Given the description of an element on the screen output the (x, y) to click on. 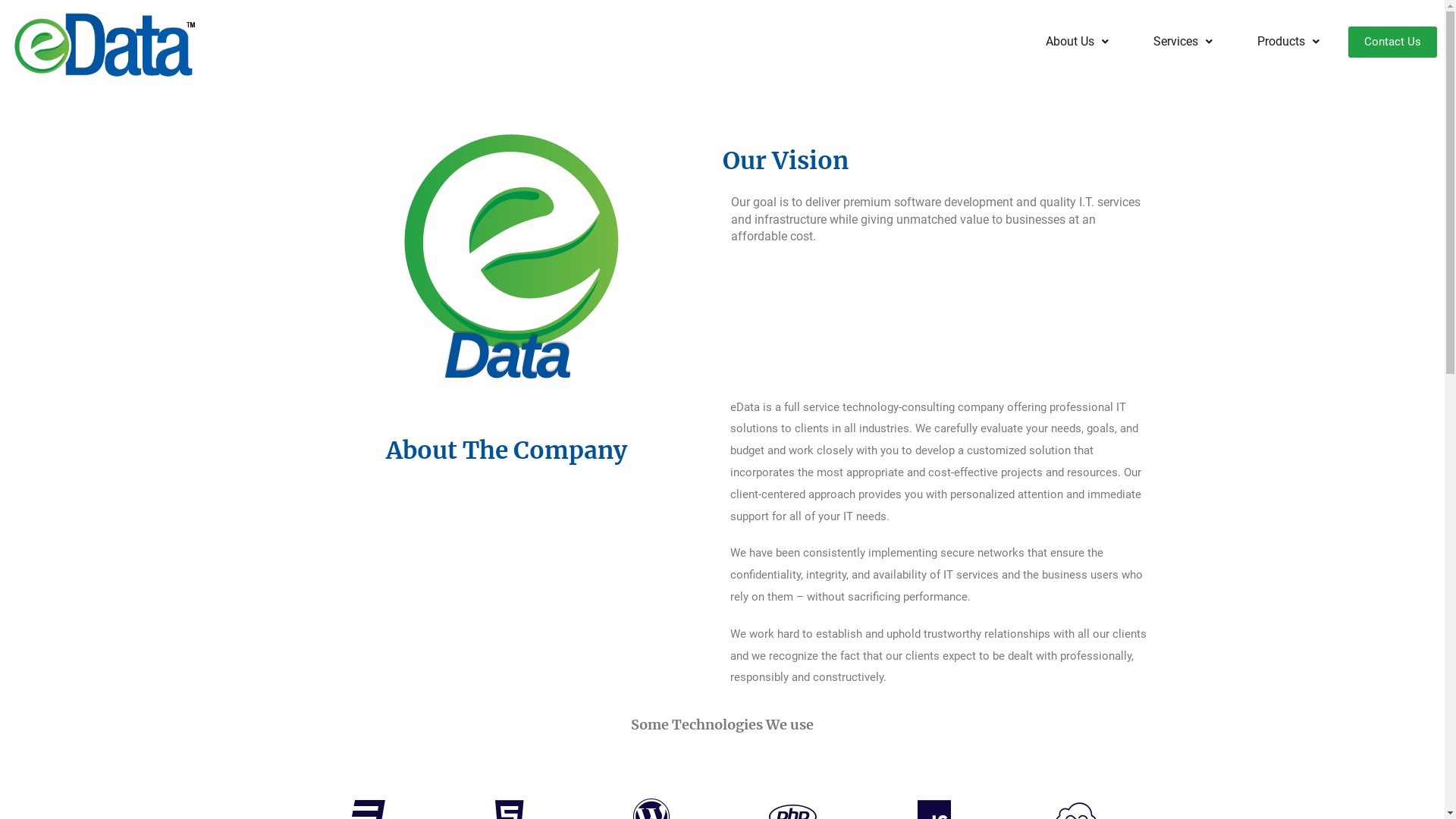
Skip to content Element type: text (15, 7)
Contact Us Element type: text (1392, 40)
Products Element type: text (1288, 41)
About Us Element type: text (1076, 41)
Services Element type: text (1182, 41)
